Given the description of an element on the screen output the (x, y) to click on. 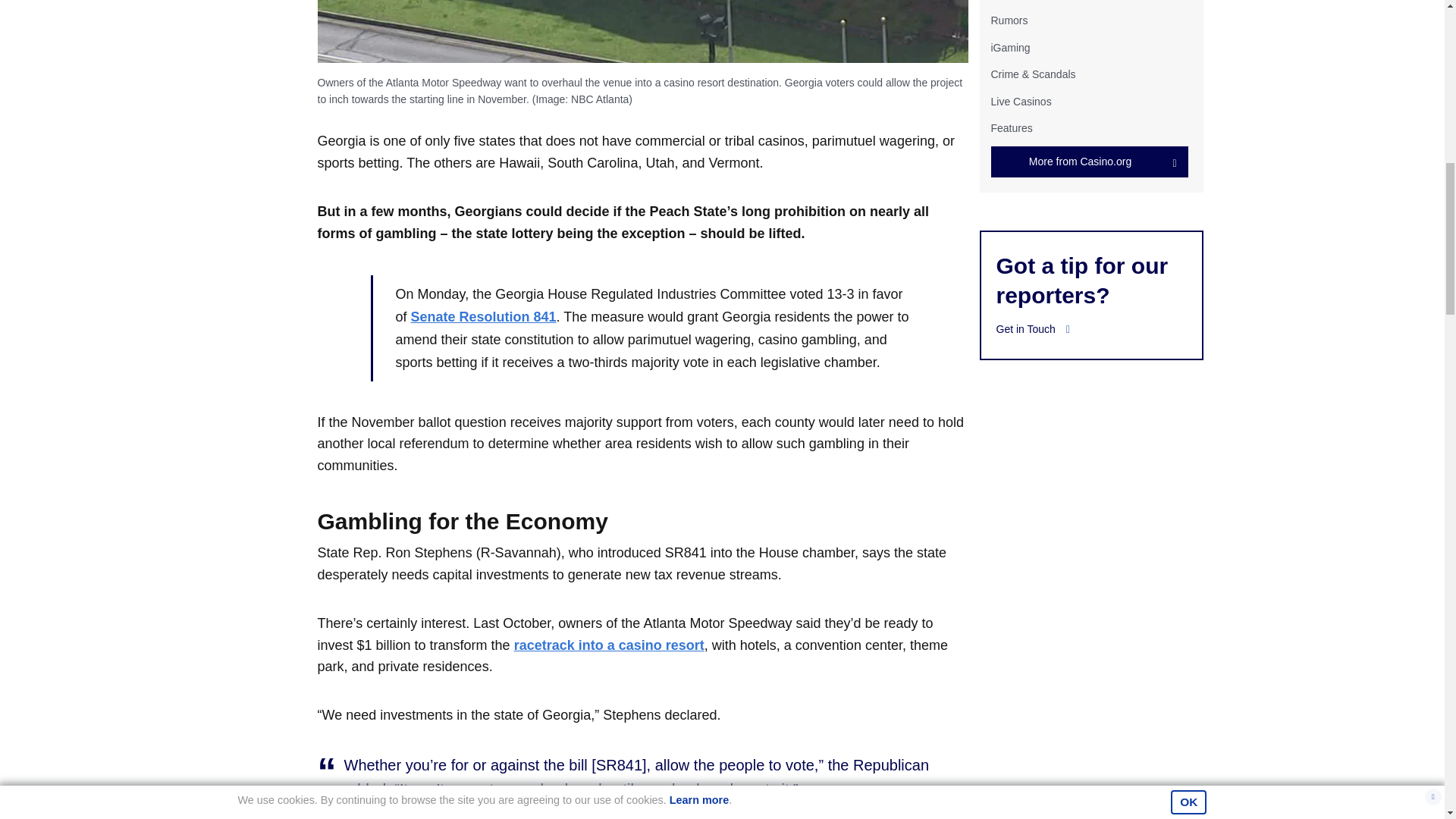
Rumors (1008, 20)
racetrack into a casino resort (608, 645)
Live Casinos (1020, 101)
iGaming (1009, 47)
Senate Resolution 841 (483, 316)
Features (1011, 128)
